Given the description of an element on the screen output the (x, y) to click on. 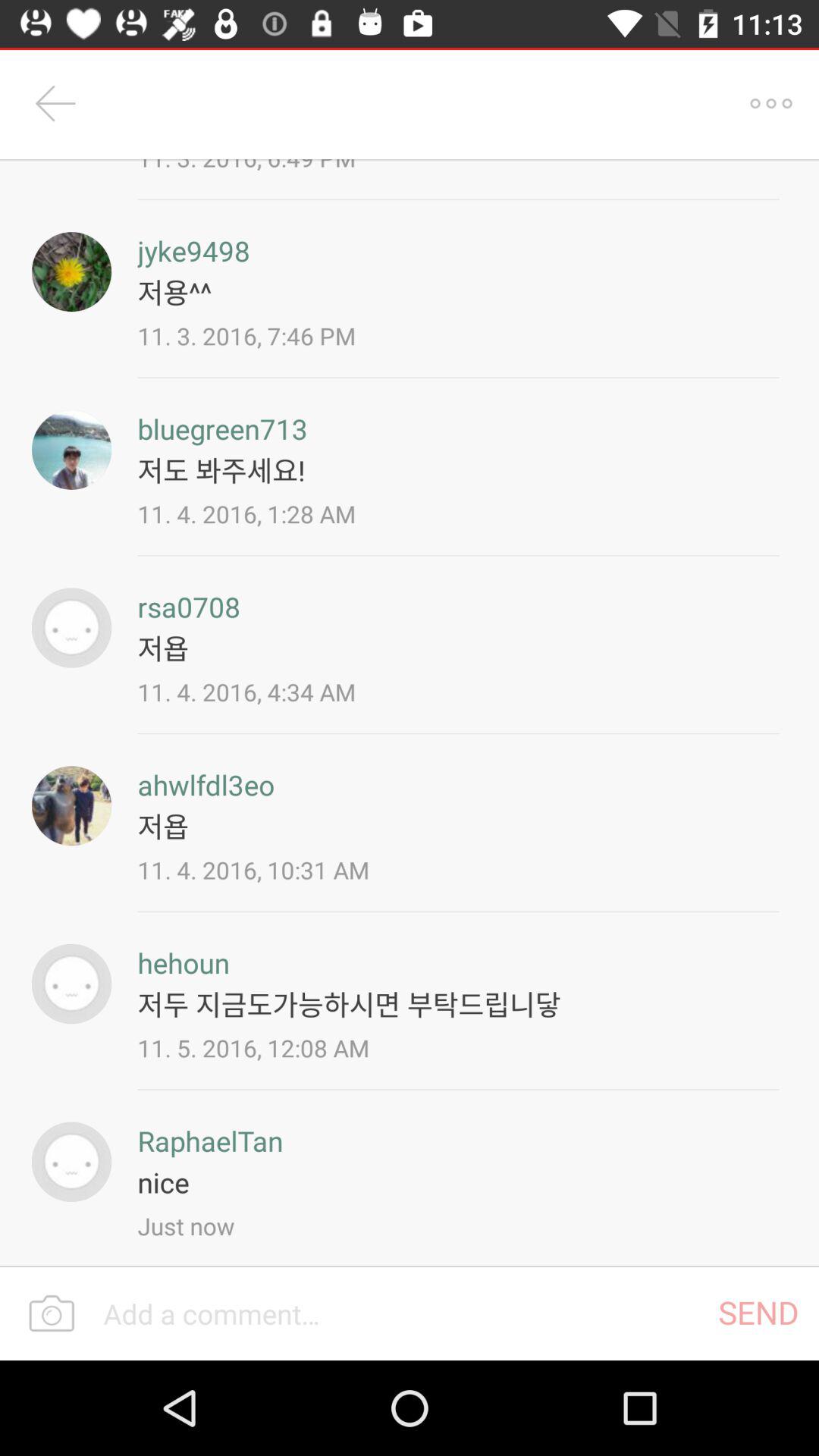
profile icon (71, 1161)
